Given the description of an element on the screen output the (x, y) to click on. 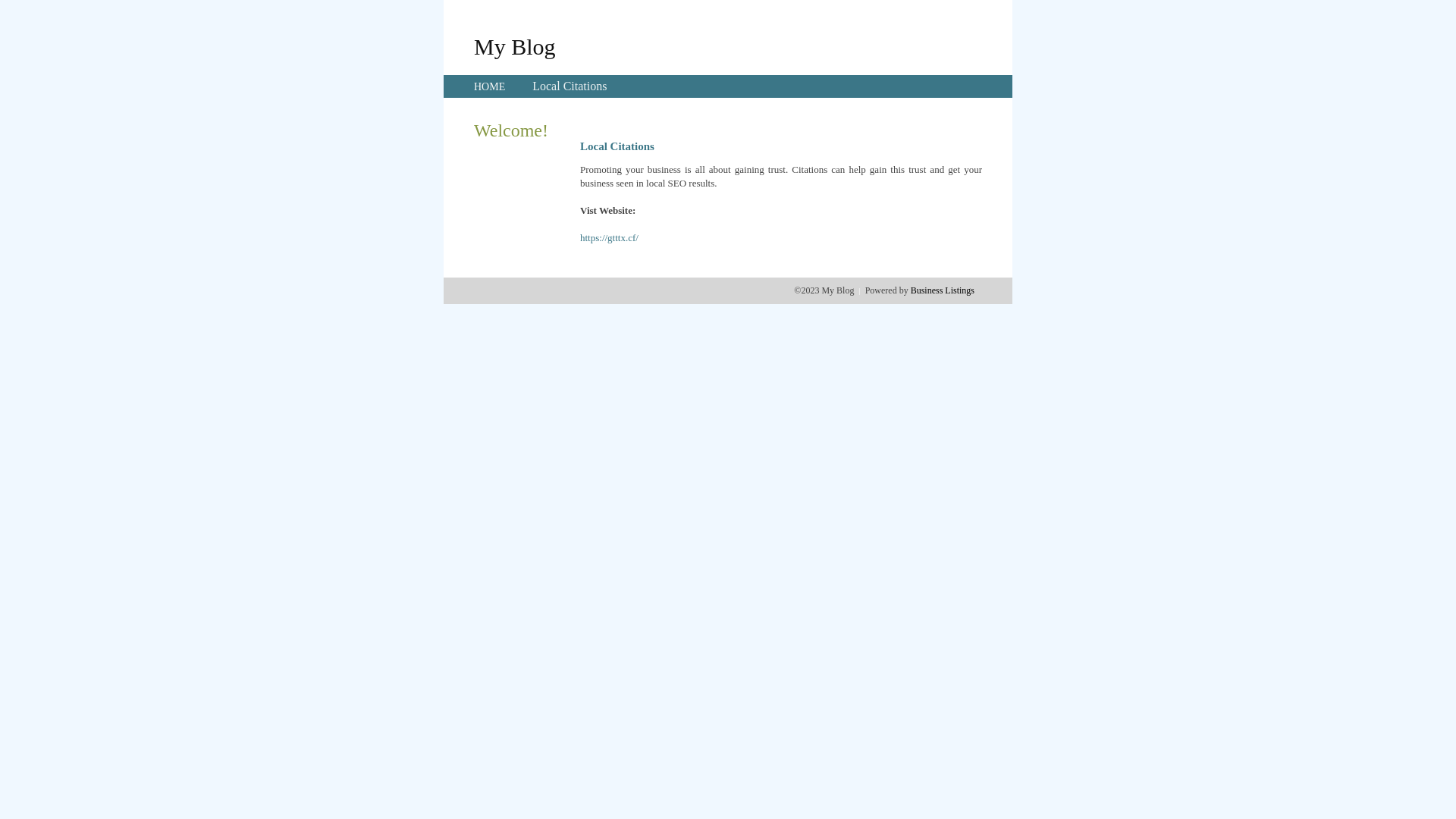
https://gtttx.cf/ Element type: text (609, 237)
Local Citations Element type: text (569, 85)
Business Listings Element type: text (942, 290)
My Blog Element type: text (514, 46)
HOME Element type: text (489, 86)
